Given the description of an element on the screen output the (x, y) to click on. 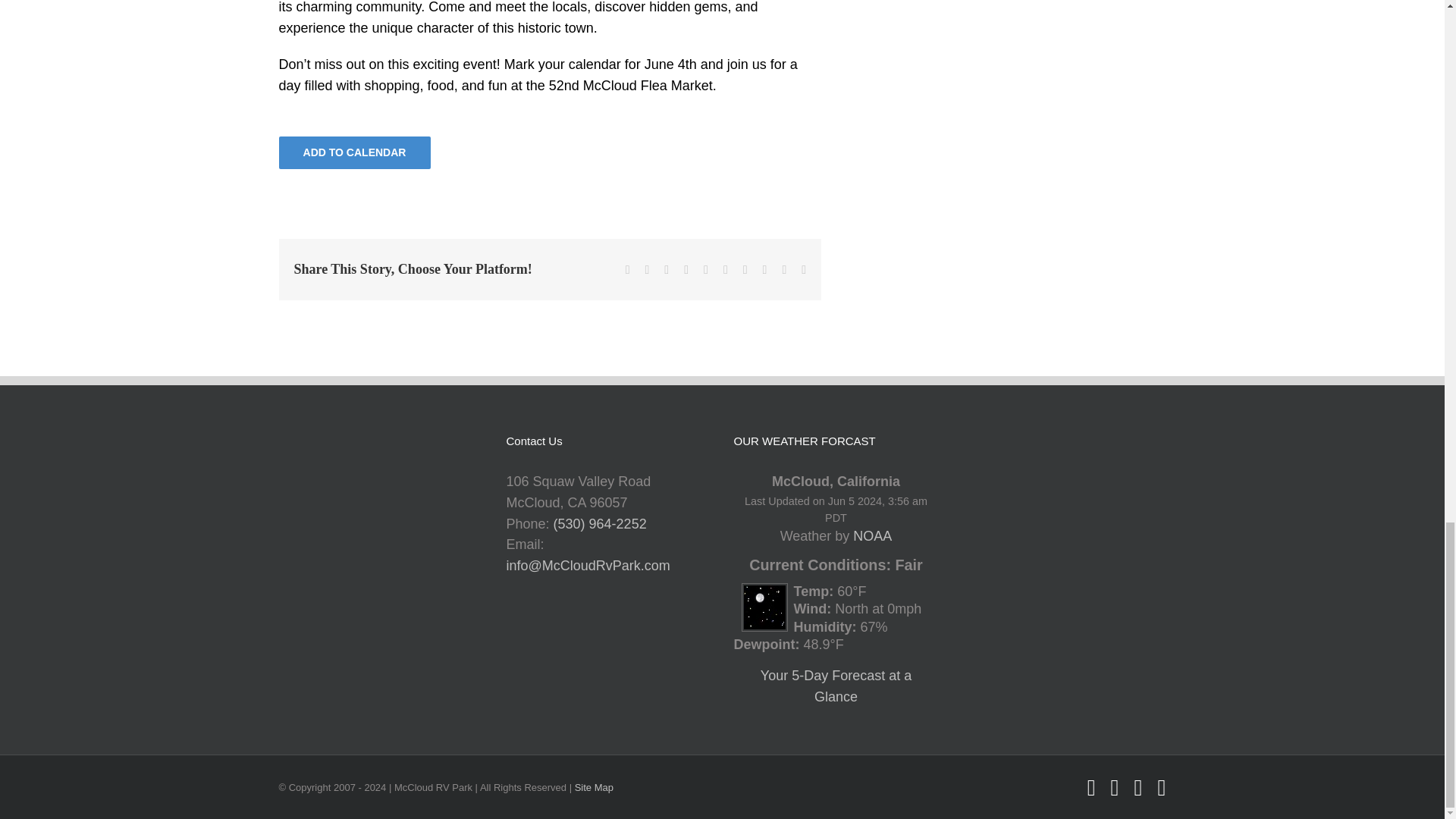
ADD TO CALENDAR (354, 152)
Click for your 5-day forecast. (760, 592)
NOAA's National Weather Service (872, 535)
